Given the description of an element on the screen output the (x, y) to click on. 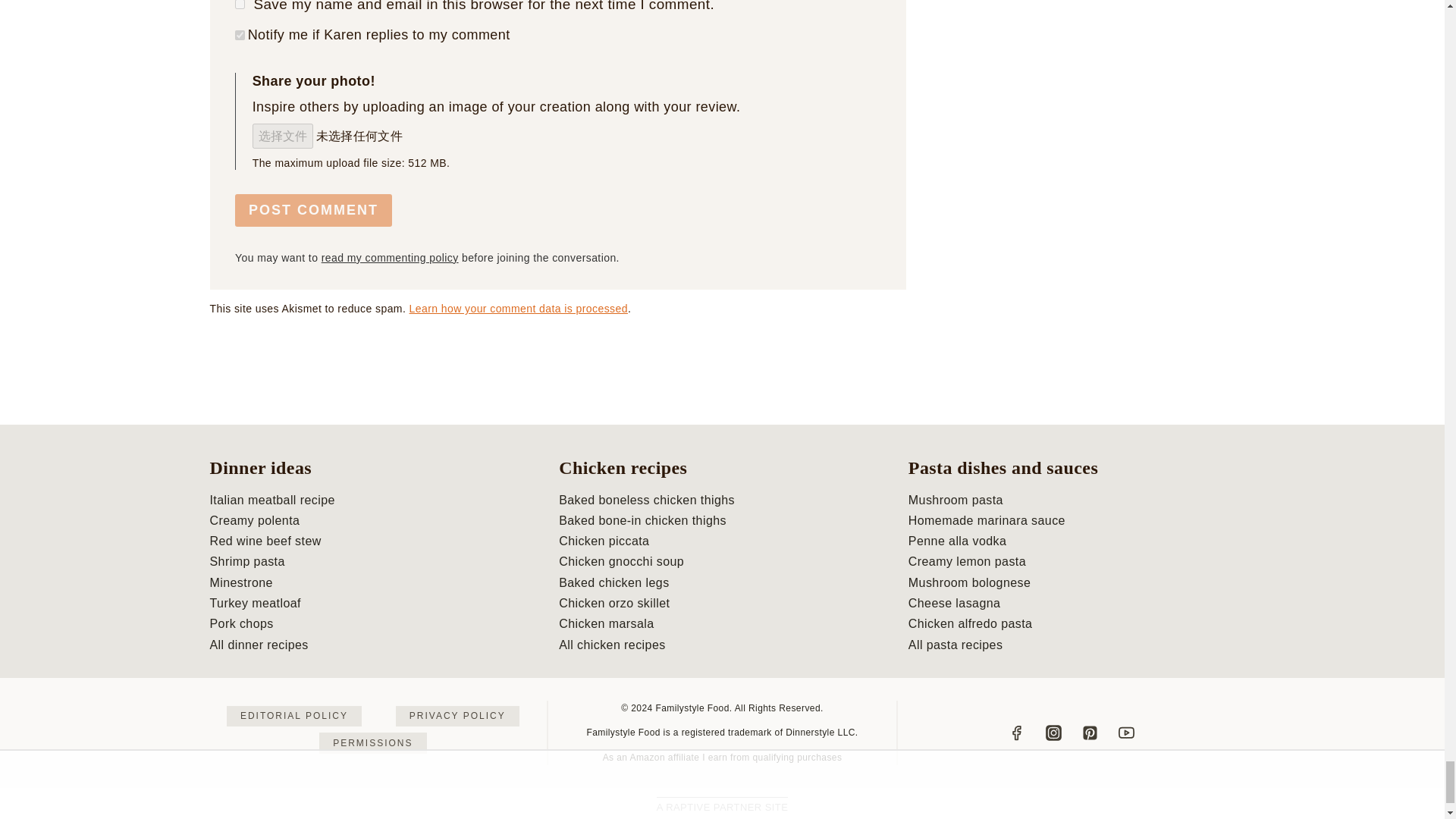
Post Comment (312, 210)
yes (239, 4)
on (239, 35)
